Given the description of an element on the screen output the (x, y) to click on. 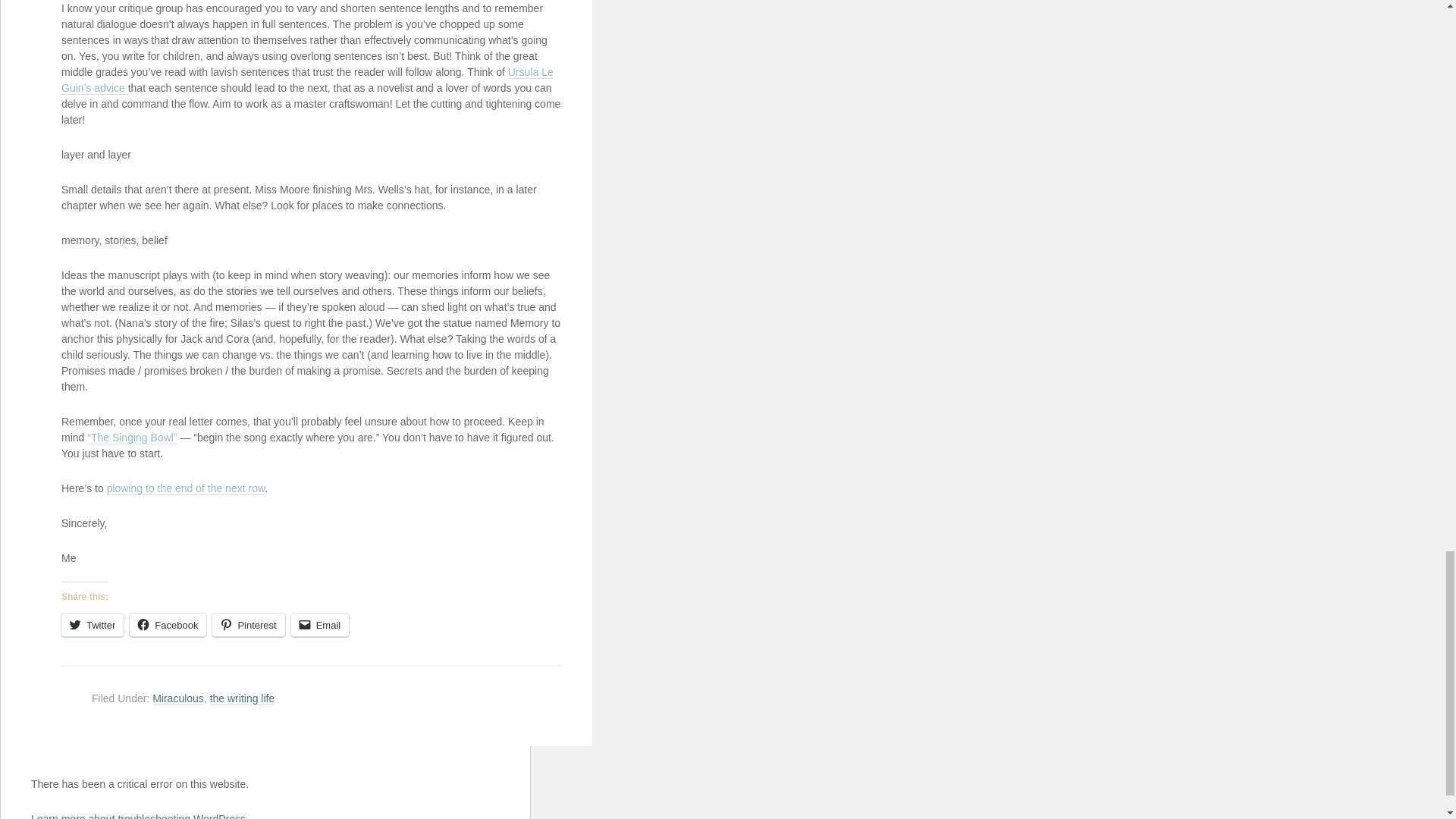
Pinterest (247, 625)
Click to share on Facebook (167, 625)
Email (320, 625)
plowing to the end of the next row (185, 487)
Click to share on Twitter (92, 625)
Click to email a link to a friend (320, 625)
Facebook (167, 625)
Click to share on Pinterest (247, 625)
Twitter (92, 625)
Miraculous (177, 698)
